Given the description of an element on the screen output the (x, y) to click on. 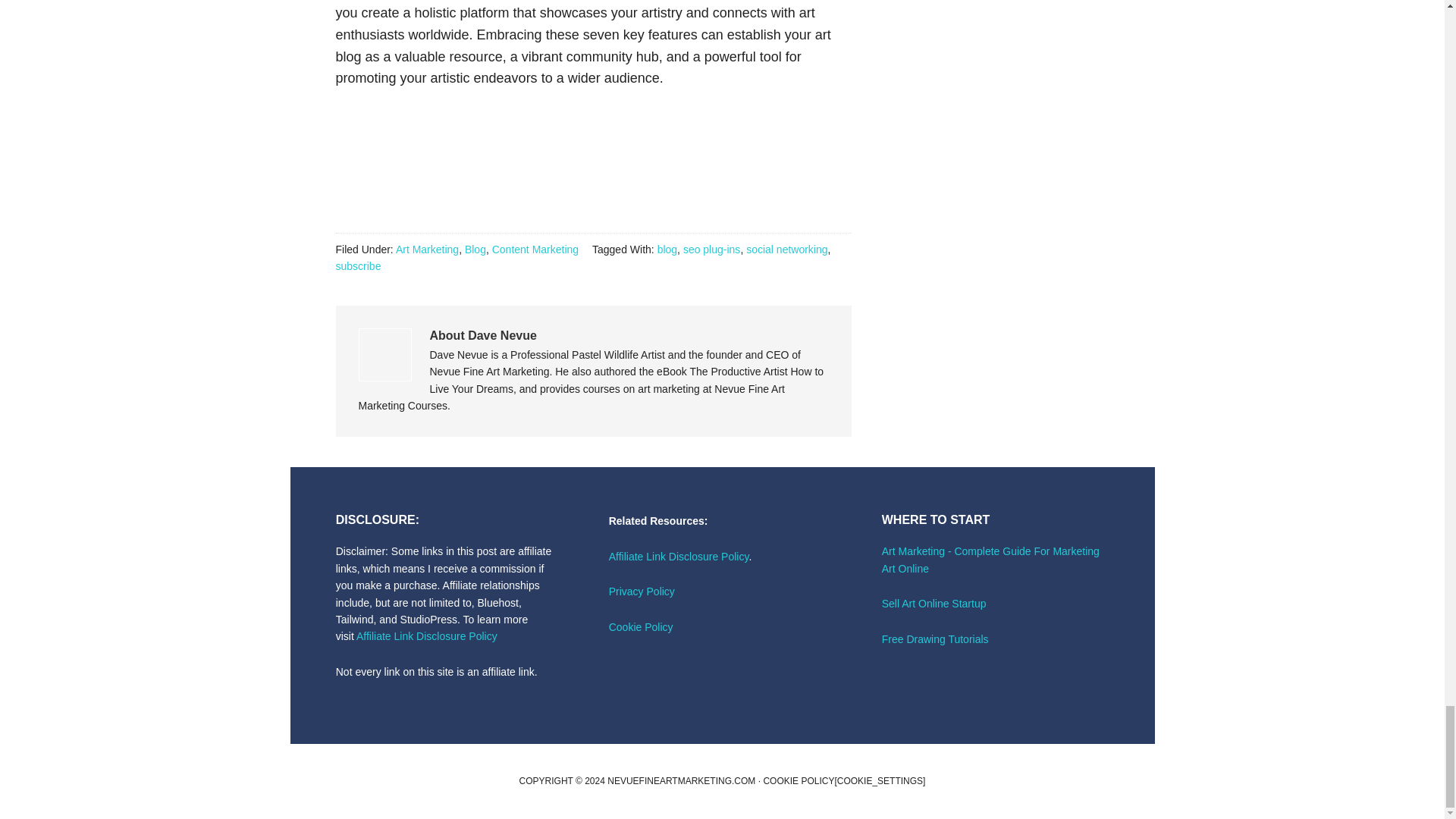
Blog (475, 249)
subscribe (357, 265)
Art Marketing (427, 249)
social networking (786, 249)
Content Marketing (535, 249)
seo plug-ins (711, 249)
blog (667, 249)
